Given the description of an element on the screen output the (x, y) to click on. 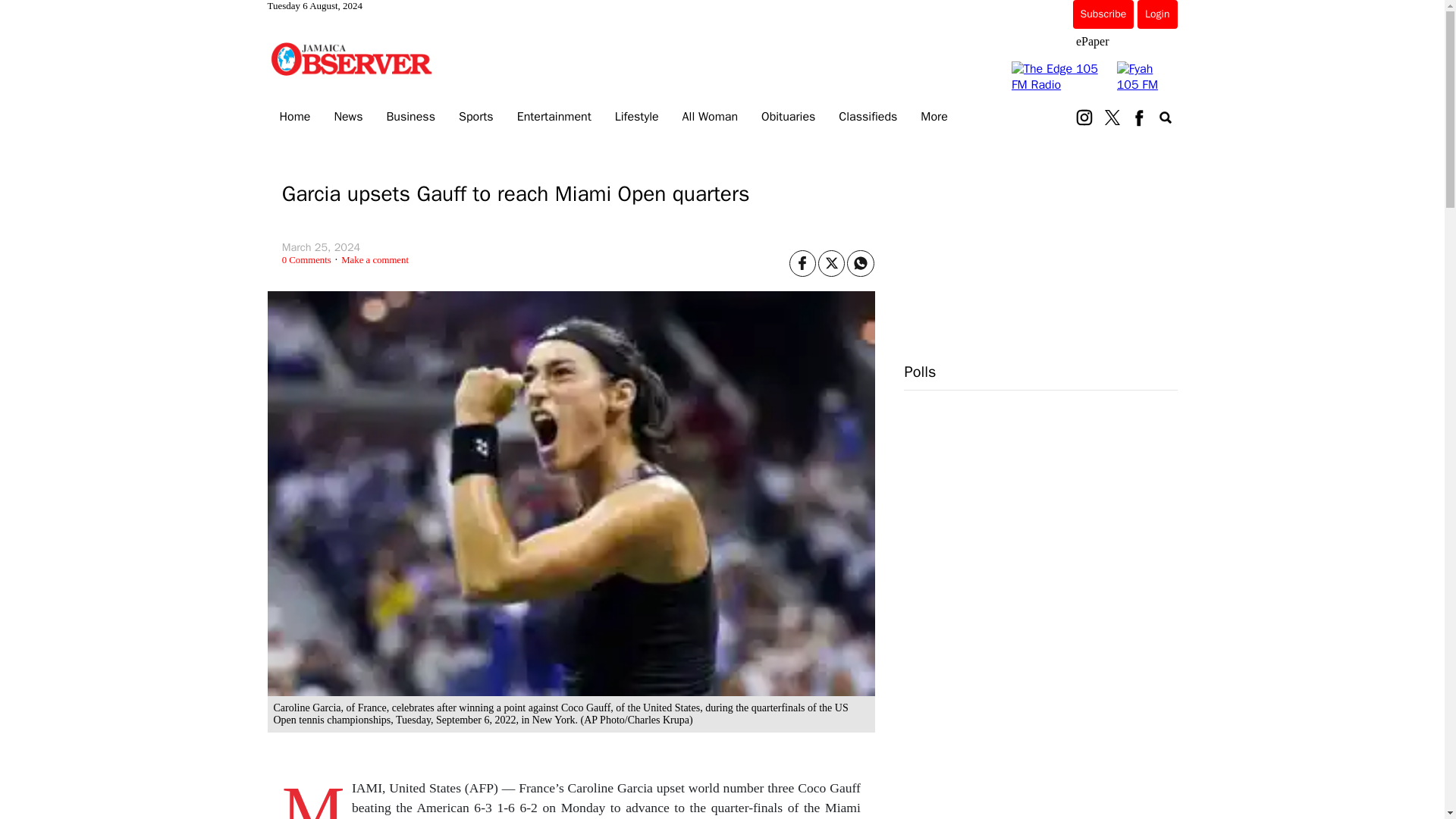
Login (1156, 14)
Subscribe (1103, 14)
ePaper (1092, 41)
